Given the description of an element on the screen output the (x, y) to click on. 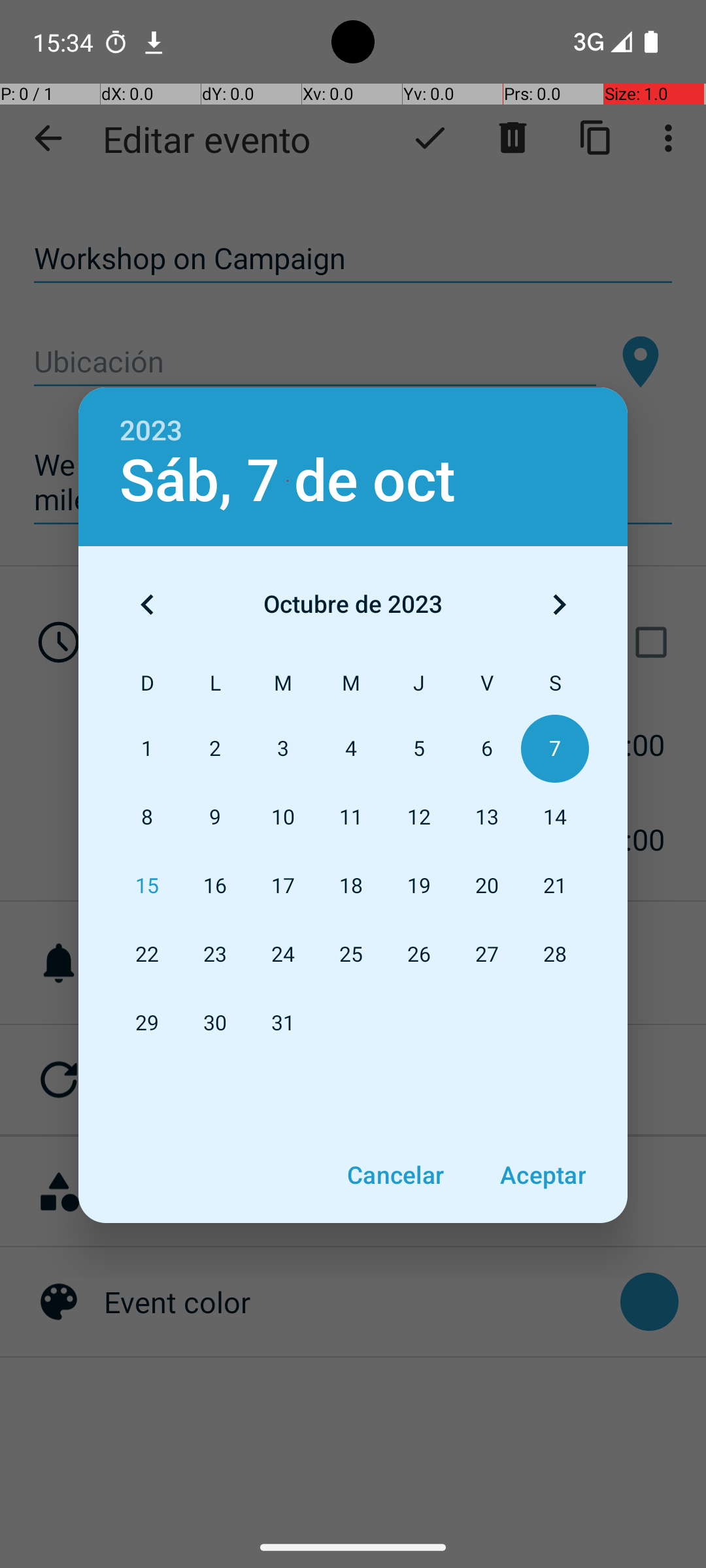
Sáb, 7 de oct Element type: android.widget.TextView (287, 480)
Mes anterior Element type: android.widget.ImageButton (146, 604)
Mes siguiente Element type: android.widget.ImageButton (558, 604)
